Given the description of an element on the screen output the (x, y) to click on. 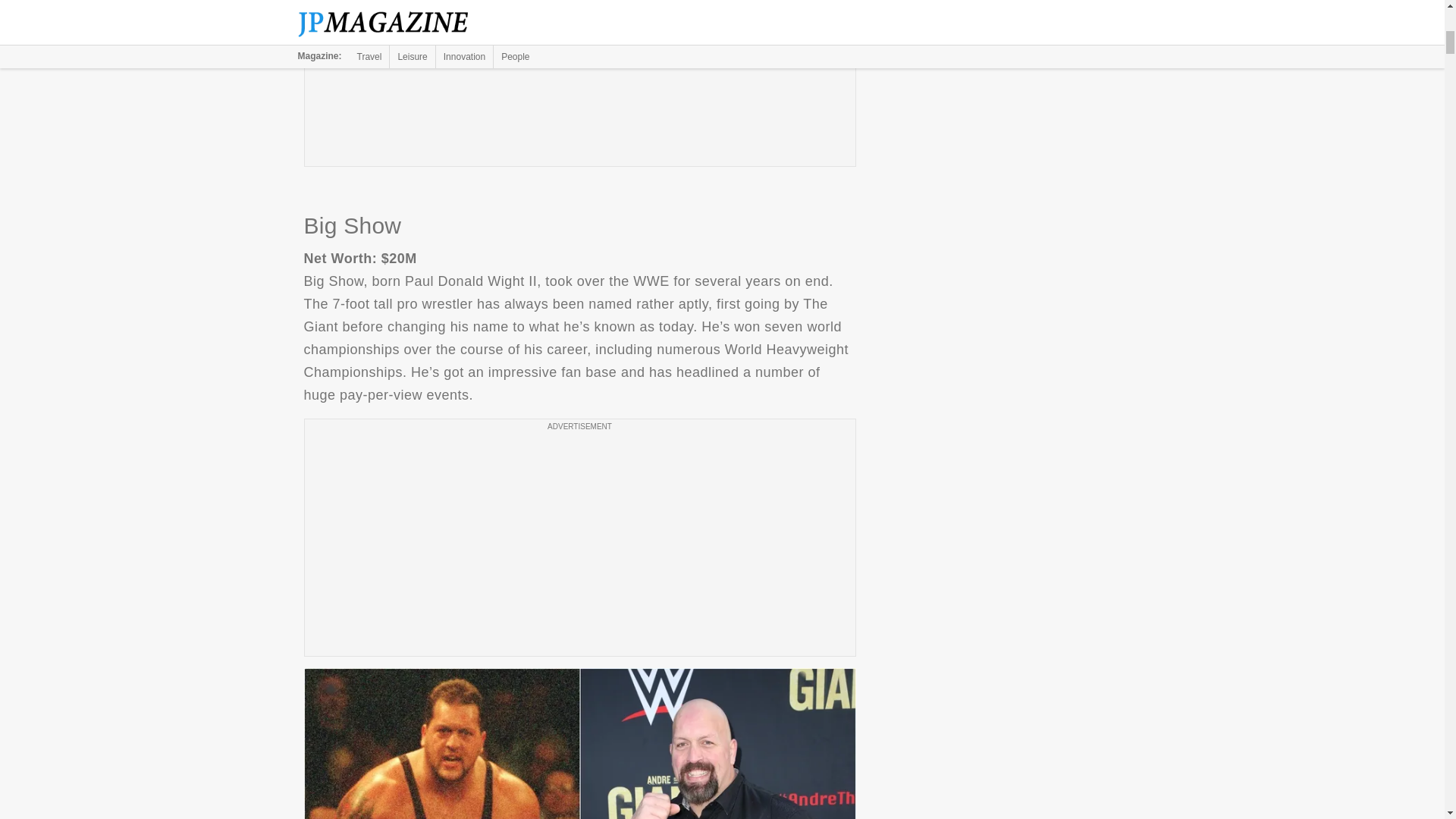
Big Show (579, 743)
